Given the description of an element on the screen output the (x, y) to click on. 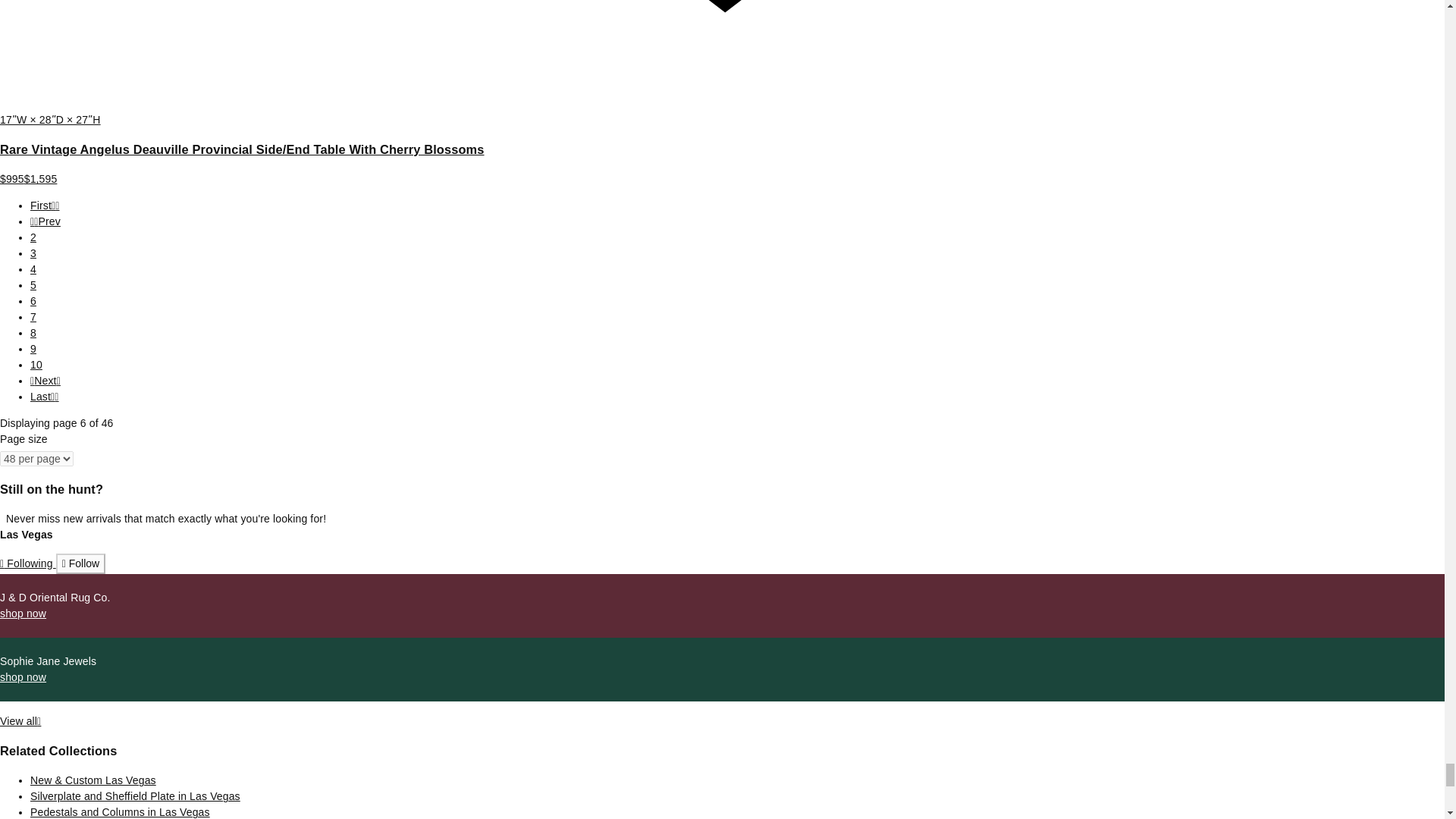
Next Page (45, 380)
Previous Page (45, 221)
